Given the description of an element on the screen output the (x, y) to click on. 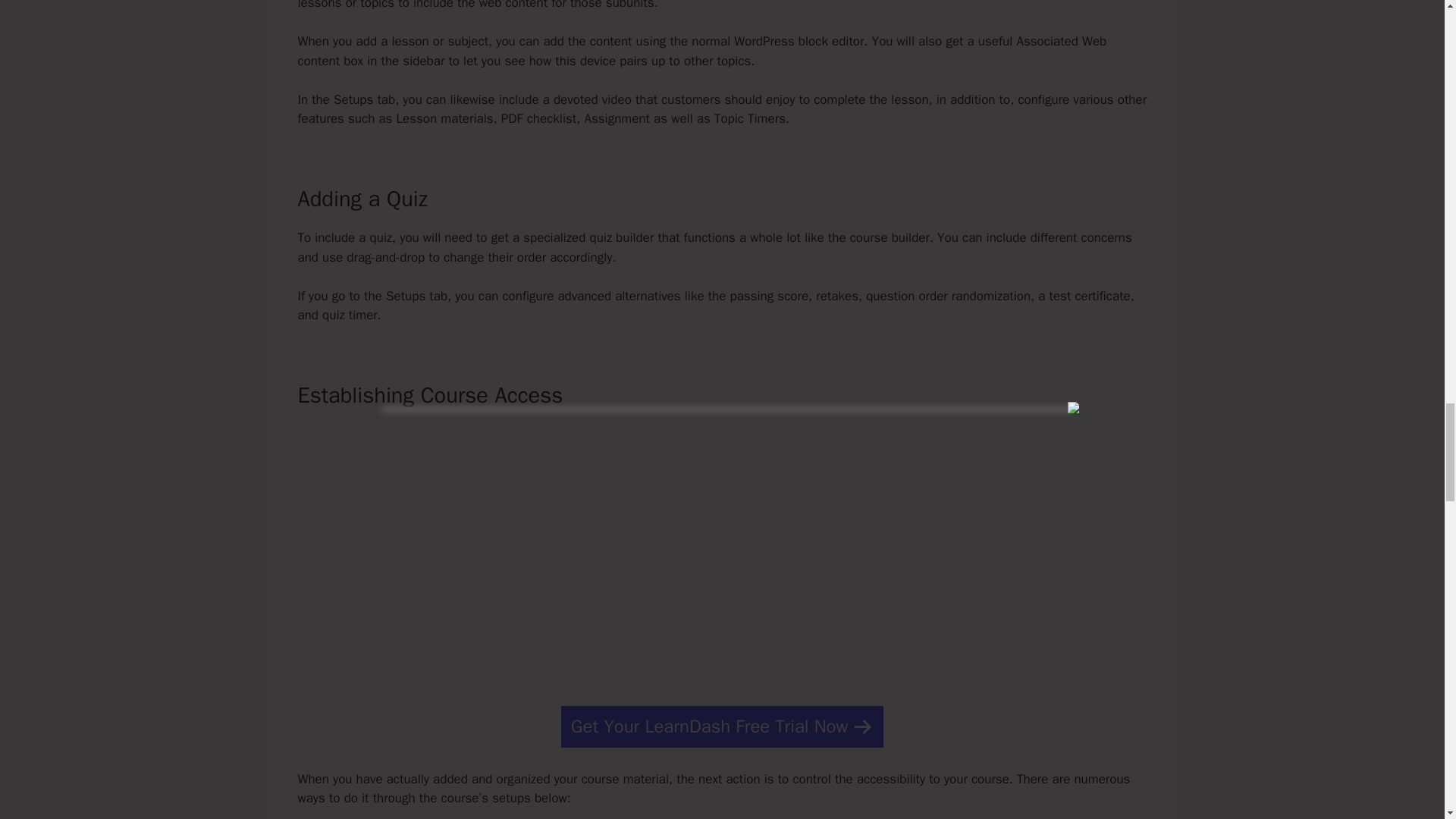
Get Your LearnDash Free Trial Now (721, 726)
